Given the description of an element on the screen output the (x, y) to click on. 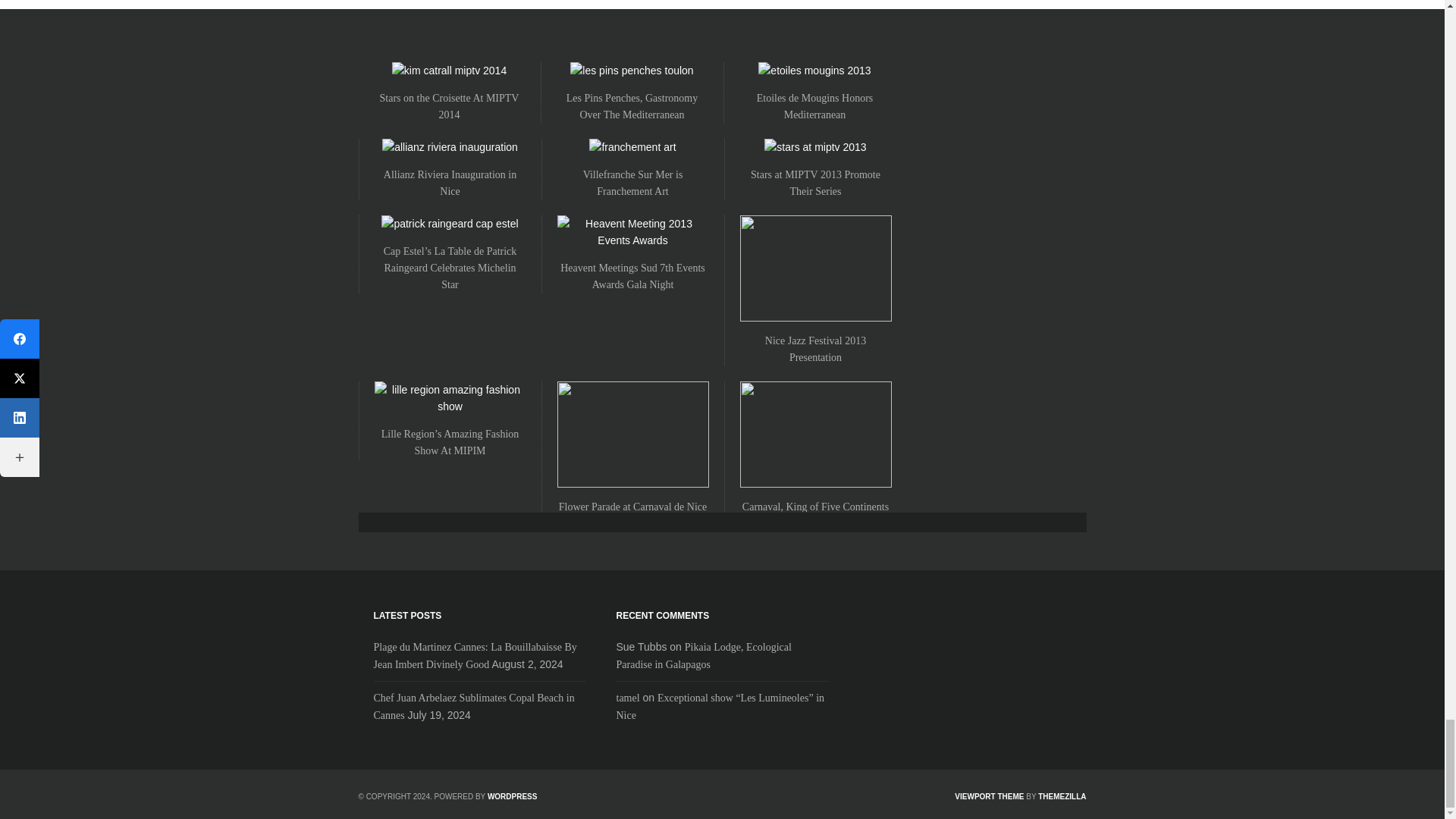
Permanent Link to Carnaval, King of Five Continents in Nice (815, 515)
Permanent Link to Allianz Riviera Inauguration in Nice (450, 182)
Permanent Link to Nice Jazz Festival 2013 Presentation (815, 348)
Permanent Link to Villefranche Sur Mer is Franchement Art (632, 182)
Permanent Link to Etoiles de Mougins Honors Mediterranean (815, 106)
Permanent Link to Flower Parade at Carnaval de Nice (633, 506)
Permanent Link to Stars at MIPTV 2013 Promote Their Series (815, 182)
Permanent Link to Stars on the Croisette At MIPTV 2014 (449, 106)
